Given the description of an element on the screen output the (x, y) to click on. 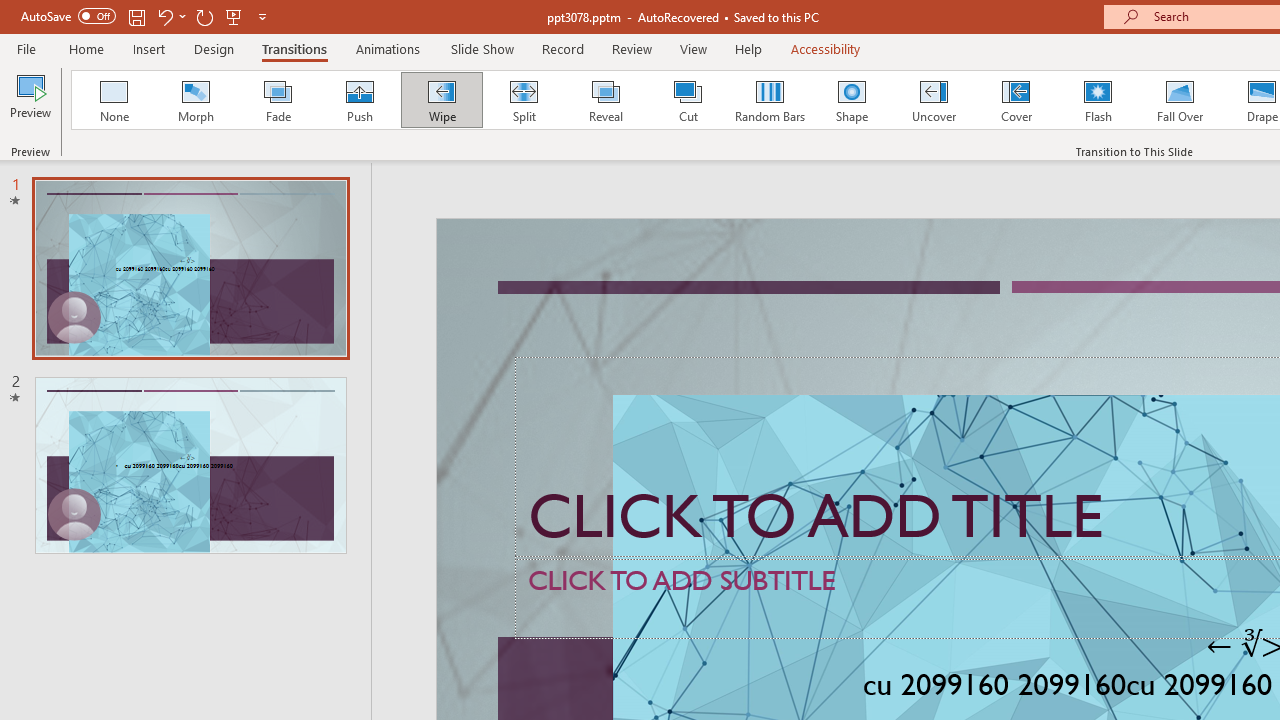
Push (359, 100)
